Given the description of an element on the screen output the (x, y) to click on. 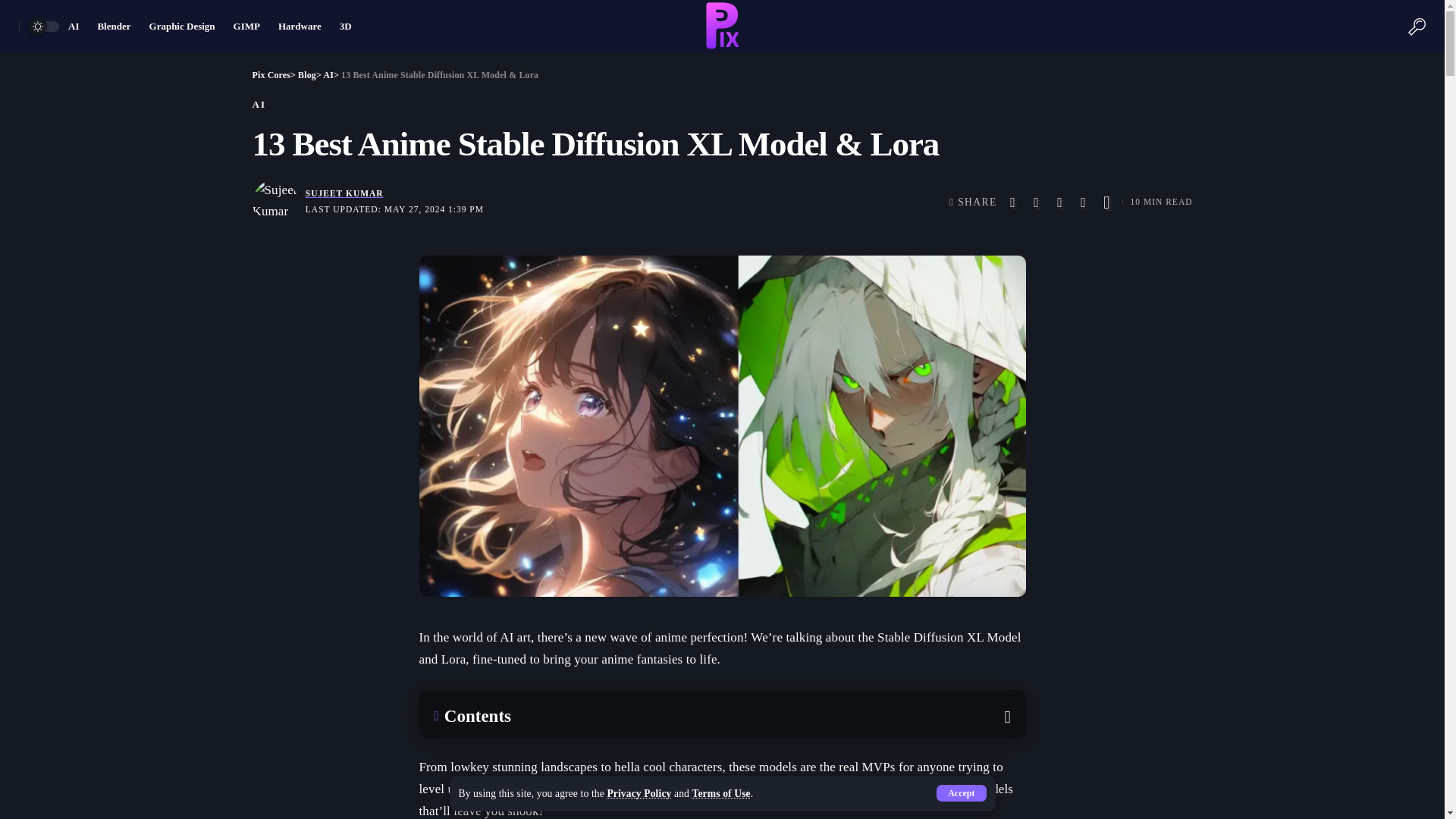
Accept (960, 792)
Privacy Policy (639, 793)
Graphic Design (181, 26)
Blog (306, 74)
Go to Blog. (306, 74)
Pix Cores (270, 74)
Hardware (299, 26)
3D (345, 26)
Go to the AI Category archives. (328, 74)
SUJEET KUMAR (344, 193)
Blender (113, 26)
AI (73, 26)
AI (328, 74)
GIMP (246, 26)
Go to Pix Cores. (270, 74)
